Given the description of an element on the screen output the (x, y) to click on. 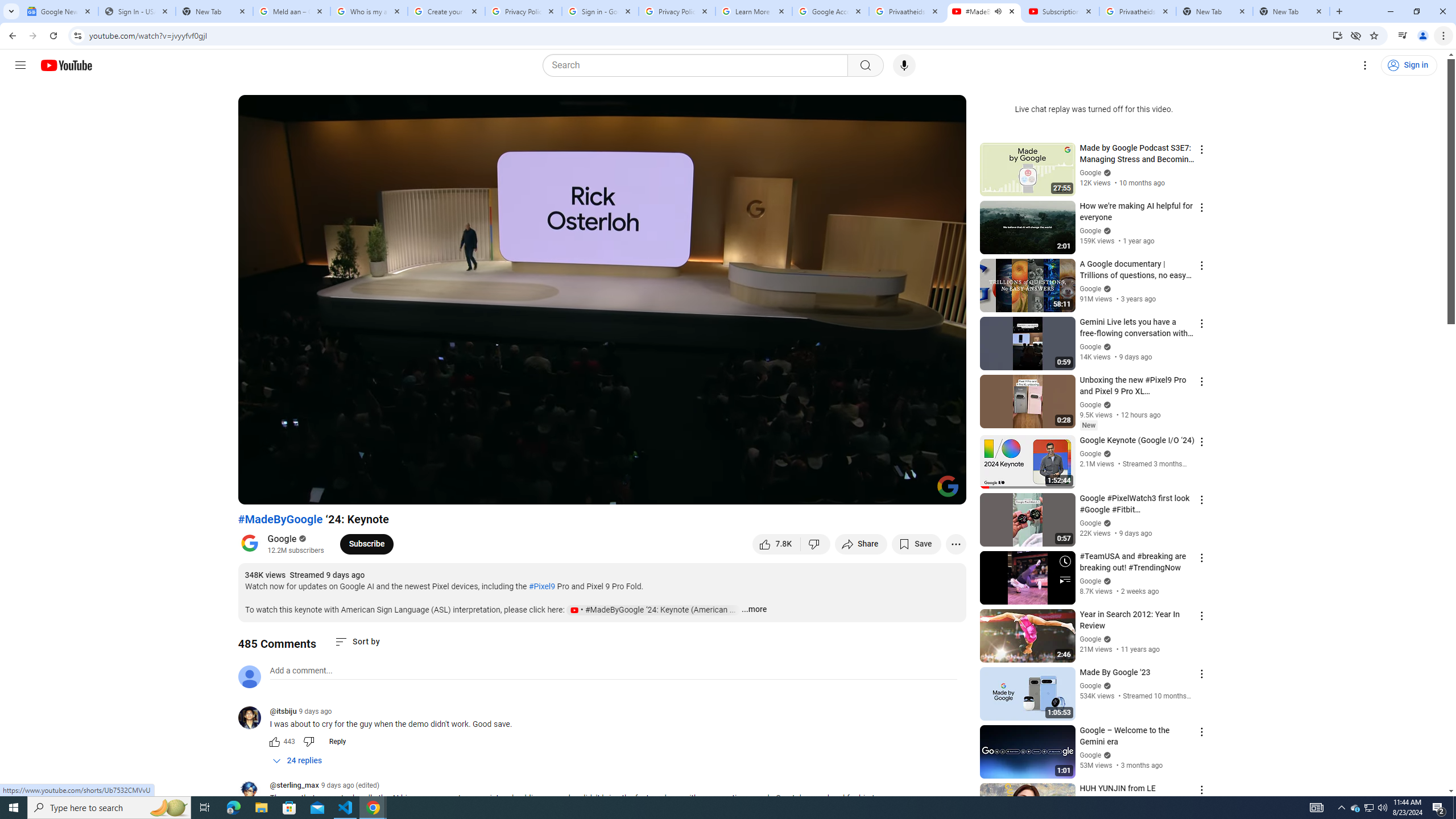
Seek slider (601, 476)
Reply (337, 741)
9 days ago (edited) (350, 785)
Subtitles/closed captions unavailable (836, 490)
Miniplayer (i) (890, 490)
24 replies (296, 761)
